Given the description of an element on the screen output the (x, y) to click on. 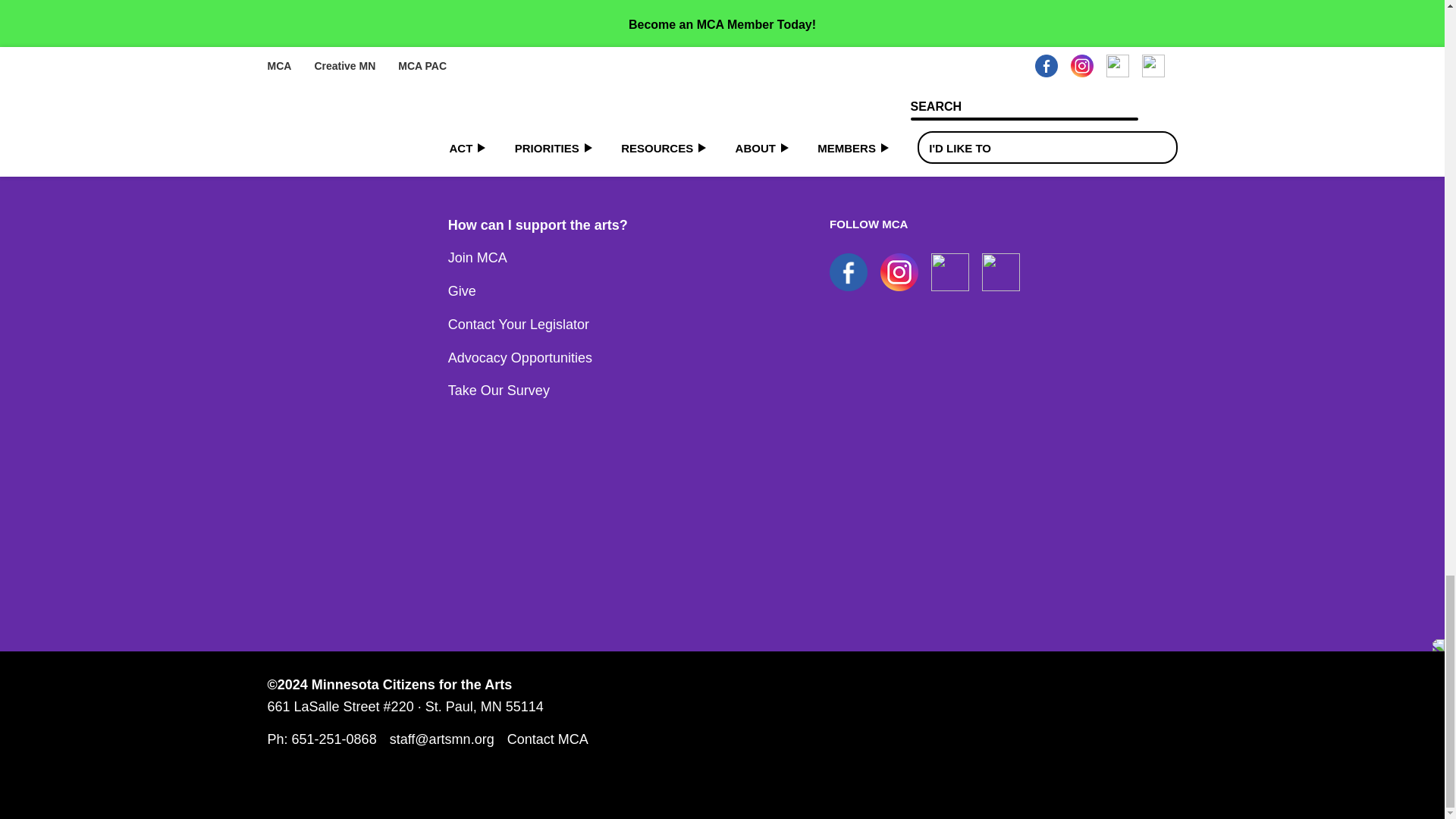
Instagram (899, 272)
Facebook (848, 272)
Twitter (1000, 272)
YouTube (950, 272)
